Given the description of an element on the screen output the (x, y) to click on. 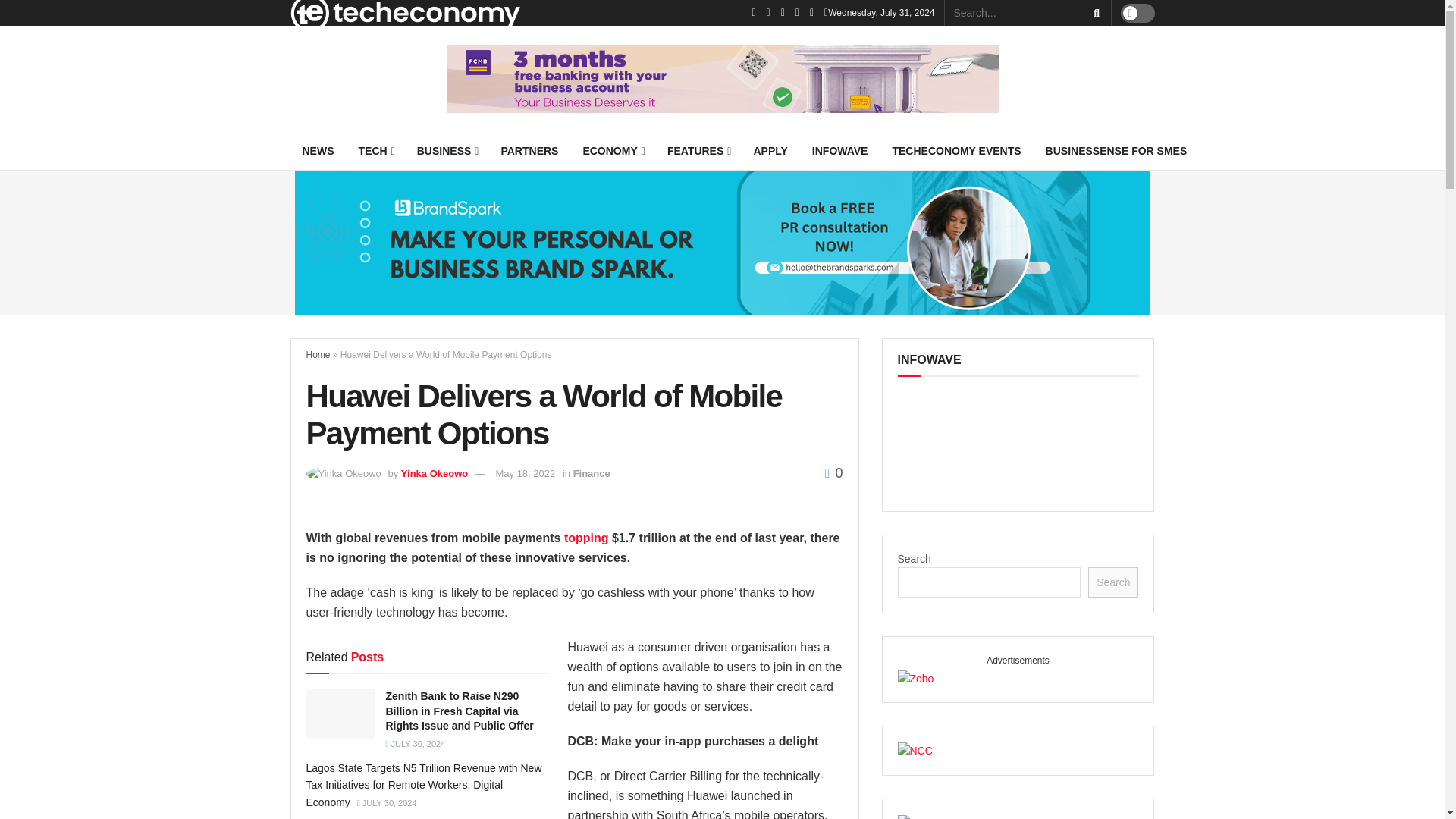
TECH (375, 150)
PARTNERS (528, 150)
FEATURES (698, 150)
BUSINESS (446, 150)
ECONOMY (611, 150)
NEWS (317, 150)
